Given the description of an element on the screen output the (x, y) to click on. 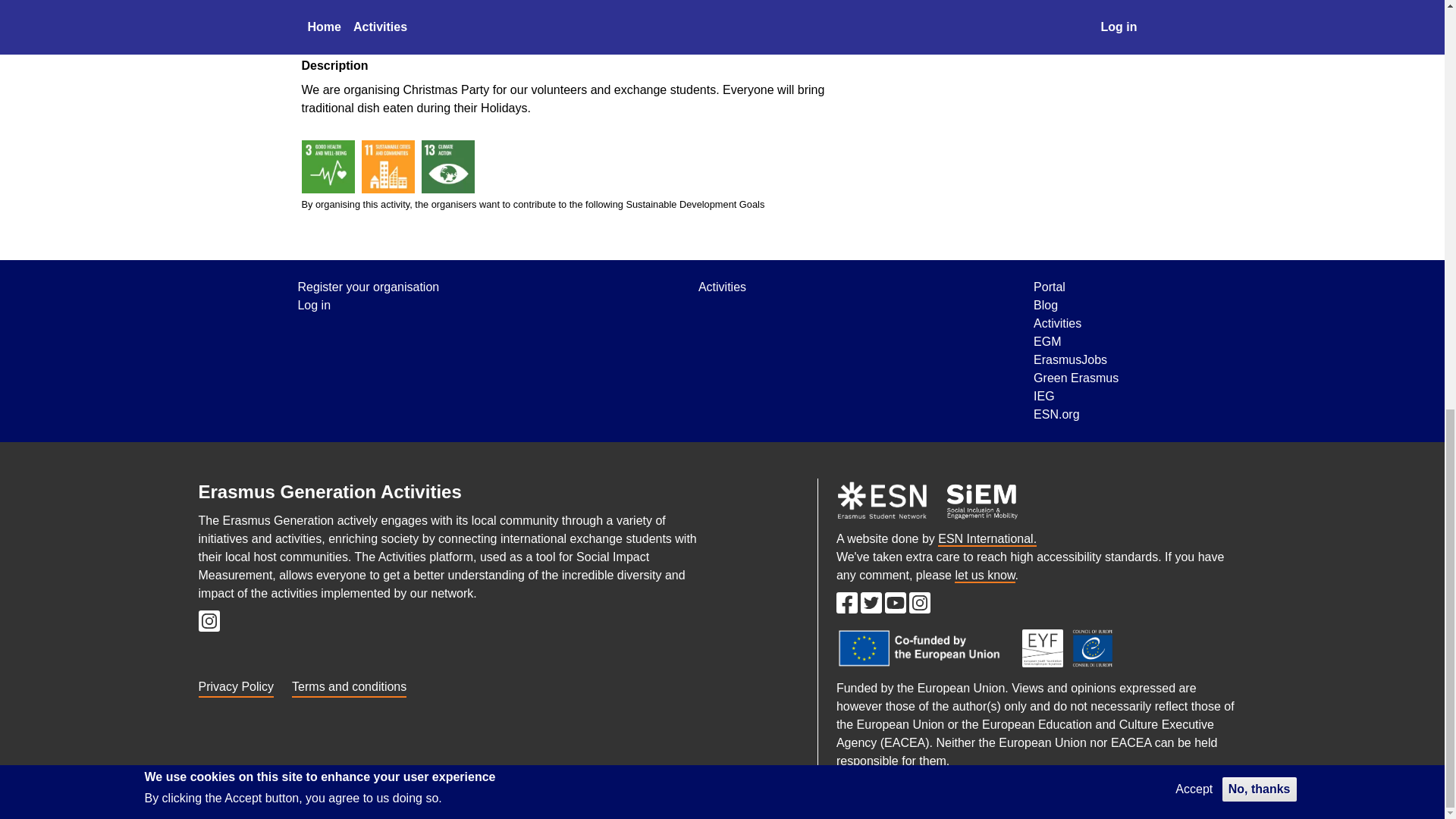
Activities (721, 287)
Goal 3: Good Health and Well-Being (328, 166)
ESN.org (986, 539)
ErasmusJobs (1075, 360)
Terms and conditions (349, 684)
SIEM-project website (982, 499)
ESN UKSW Warsaw (933, 2)
Instagram (919, 607)
Register your organisation (368, 287)
ESN.org (1075, 414)
